Given the description of an element on the screen output the (x, y) to click on. 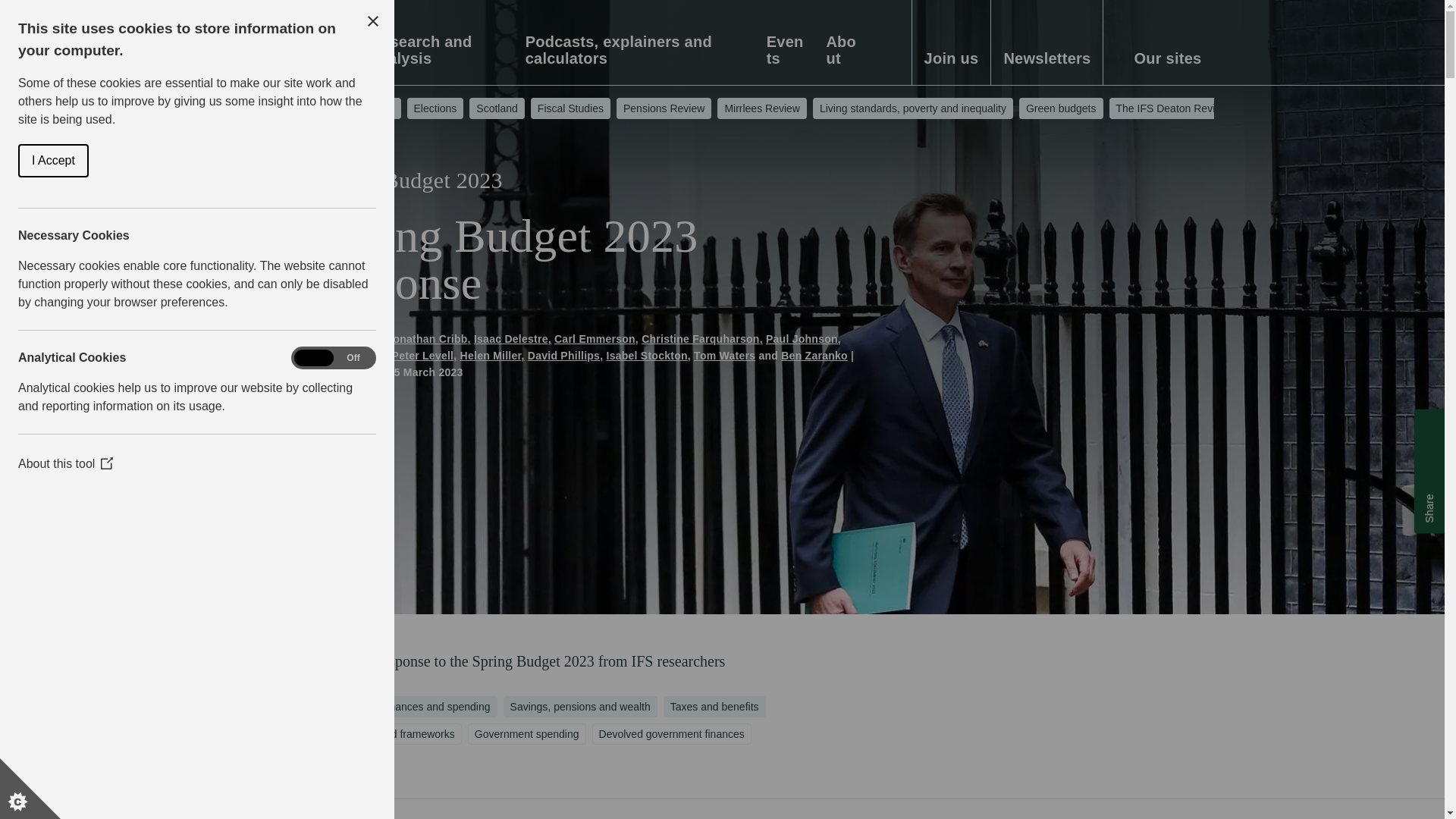
Podcasts, explainers and calculators (636, 59)
Research and analysis (437, 59)
Share via Twitter (1429, 477)
Share via Facebook (1429, 452)
Share via Email (1429, 427)
Return to the homepage (262, 47)
